Given the description of an element on the screen output the (x, y) to click on. 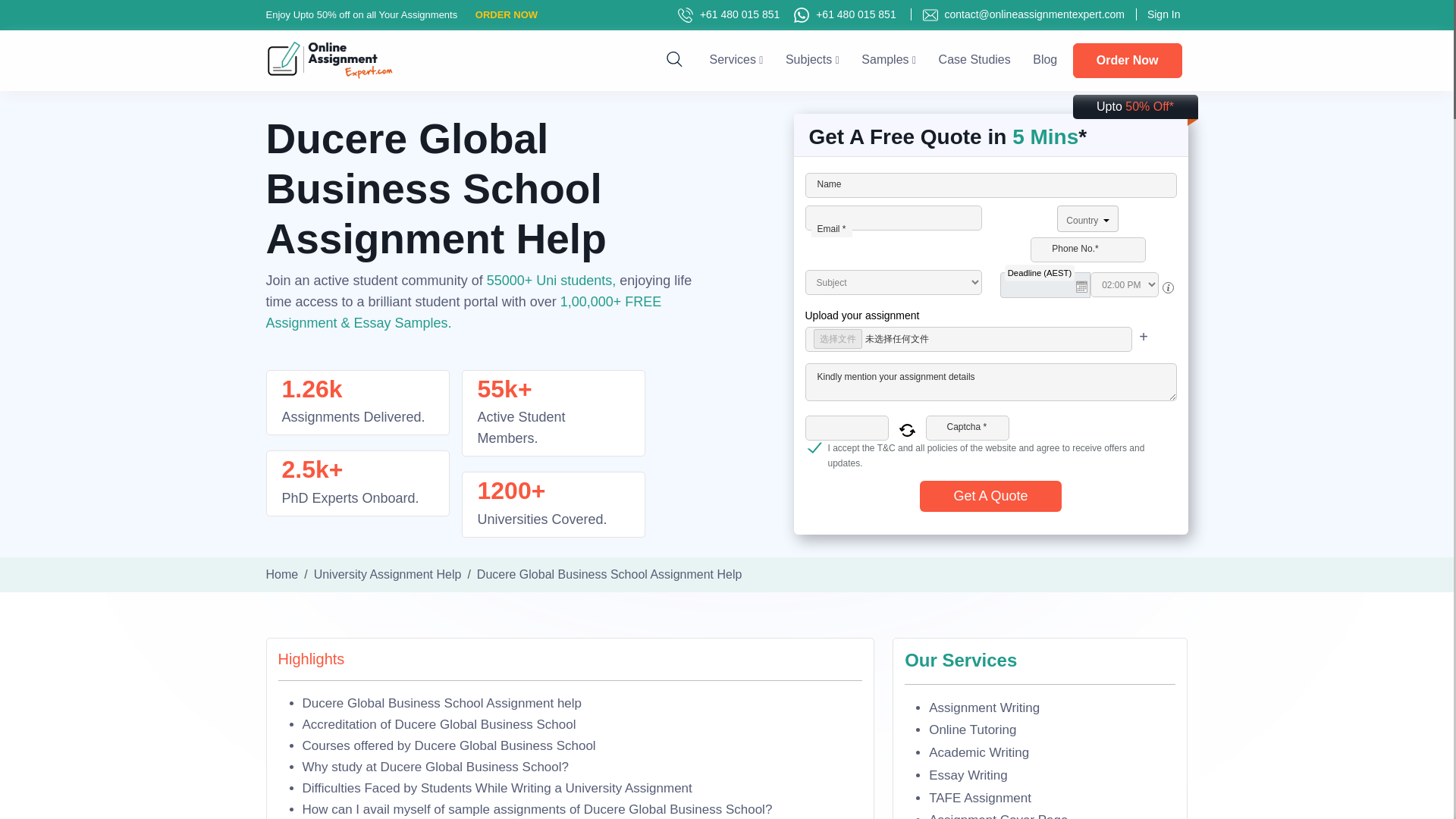
Services (736, 59)
Subjects (813, 59)
Courses offered by Ducere Global Business School (448, 745)
Why study at Ducere Global Business School? (435, 766)
Accreditation of Ducere Global Business School (438, 724)
Sign In (1157, 14)
Why study at Ducere Global Business School? (435, 766)
